Given the description of an element on the screen output the (x, y) to click on. 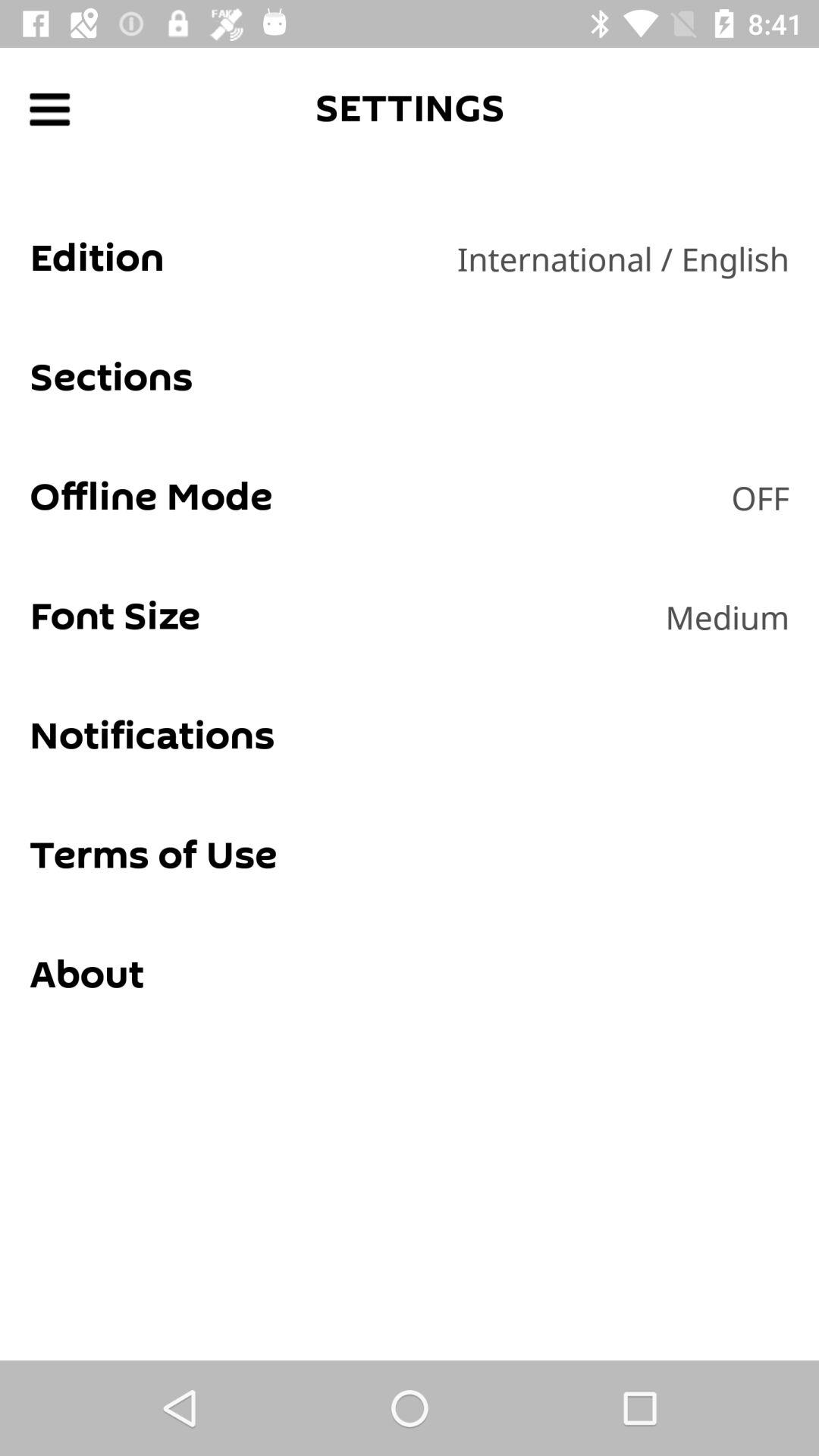
sidebar menu (49, 109)
